Given the description of an element on the screen output the (x, y) to click on. 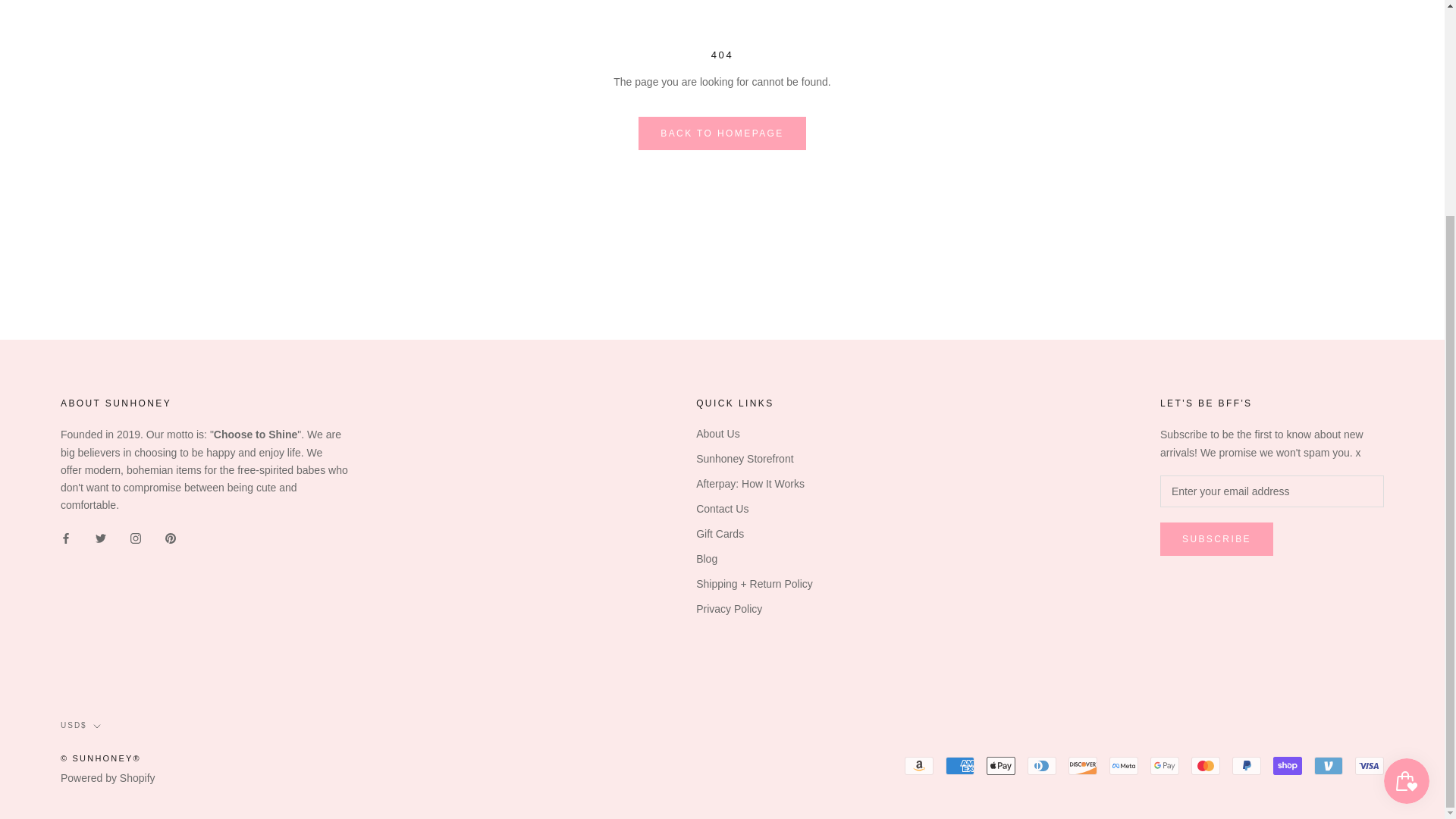
American Express (959, 765)
Amazon (918, 765)
Apple Pay (1000, 765)
Meta Pay (1123, 765)
Discover (1082, 765)
Smile.io Rewards Program Launcher (1406, 497)
Diners Club (1042, 765)
